Given the description of an element on the screen output the (x, y) to click on. 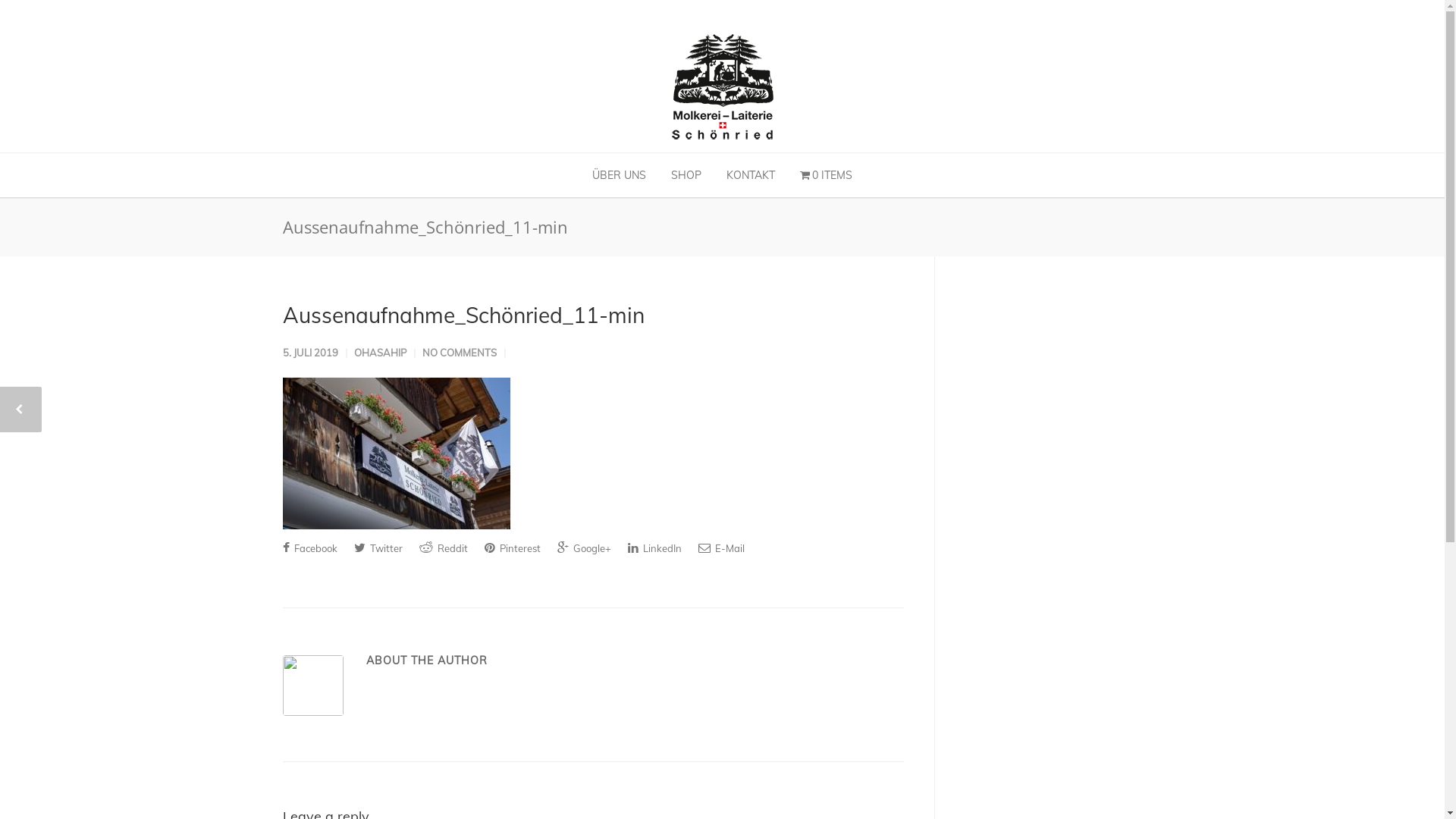
Google+ Element type: text (583, 547)
E-Mail Element type: text (720, 547)
KONTAKT Element type: text (750, 175)
Facebook Element type: text (309, 547)
Twitter Element type: text (377, 547)
0 ITEMS Element type: text (826, 175)
NO COMMENTS Element type: text (458, 352)
Reddit Element type: text (442, 547)
LinkedIn Element type: text (654, 547)
OHASAHIP Element type: text (379, 352)
Pinterest Element type: text (511, 547)
SHOP Element type: text (685, 175)
